Given the description of an element on the screen output the (x, y) to click on. 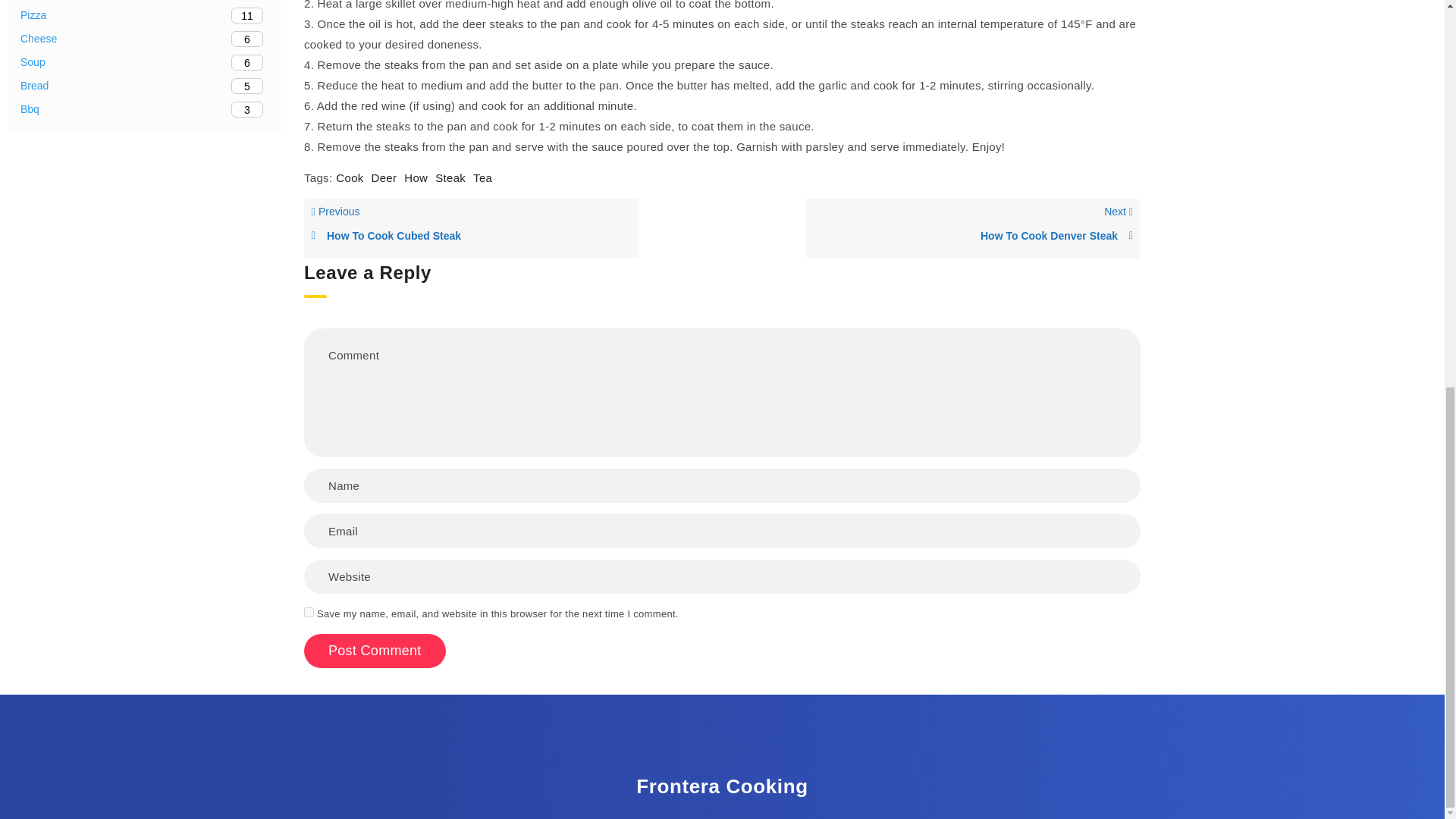
Cook (973, 228)
Deer (143, 15)
Post Comment (349, 177)
How To Cook Cubed Steak (384, 177)
How (374, 650)
yes (470, 236)
Steak (416, 177)
Tea (309, 612)
How To Cook Denver Steak (143, 109)
Post Comment (471, 228)
